Given the description of an element on the screen output the (x, y) to click on. 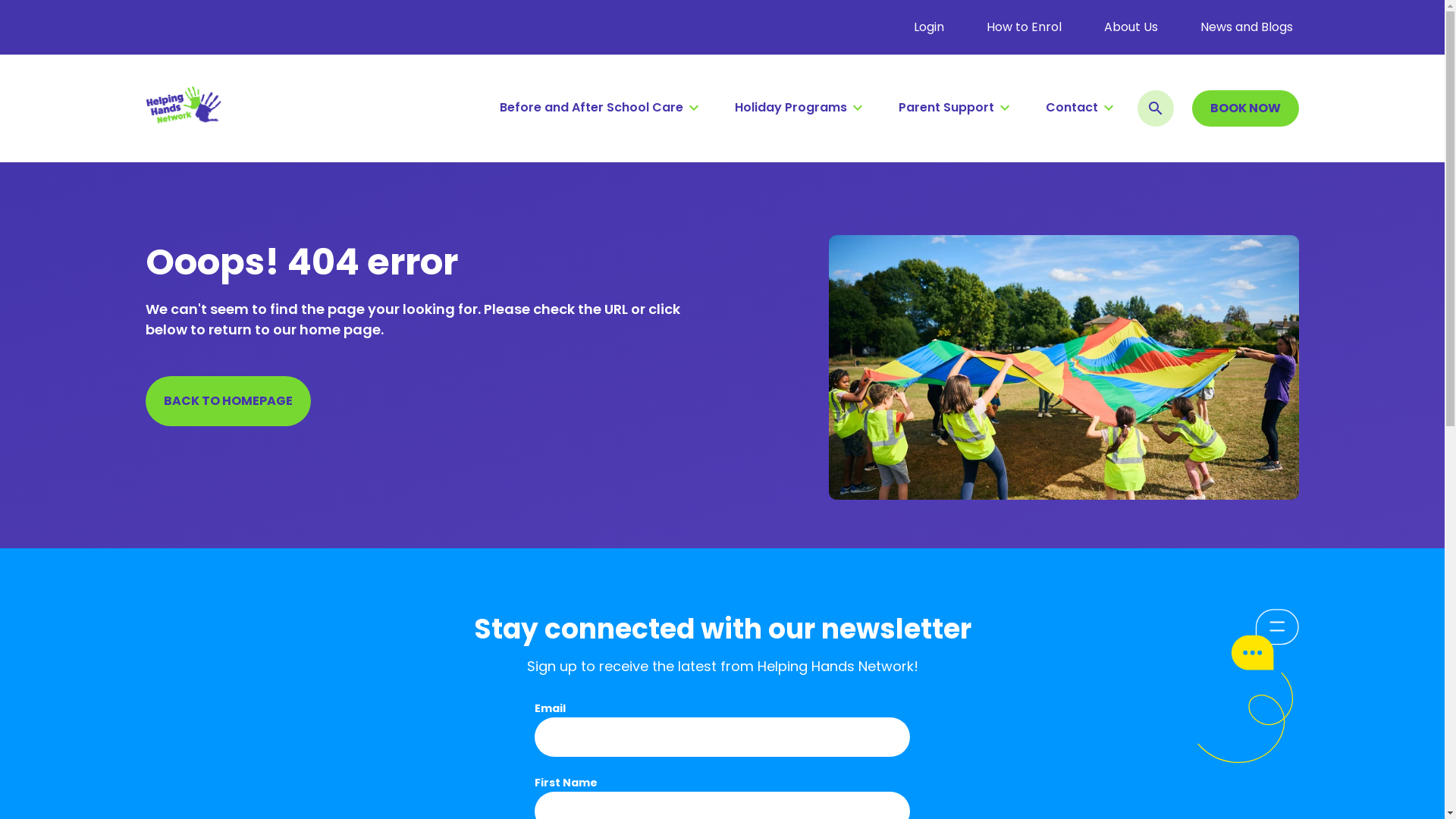
About Us Element type: text (1134, 27)
Holiday Programs Element type: text (798, 108)
News and Blogs Element type: text (1249, 27)
BACK TO HOMEPAGE Element type: text (227, 401)
How to Enrol Element type: text (1026, 27)
BOOK NOW Element type: text (1245, 108)
Login Element type: text (931, 27)
Before and After School Care Element type: text (598, 108)
Parent Support Element type: text (953, 108)
Contact Element type: text (1079, 108)
